Given the description of an element on the screen output the (x, y) to click on. 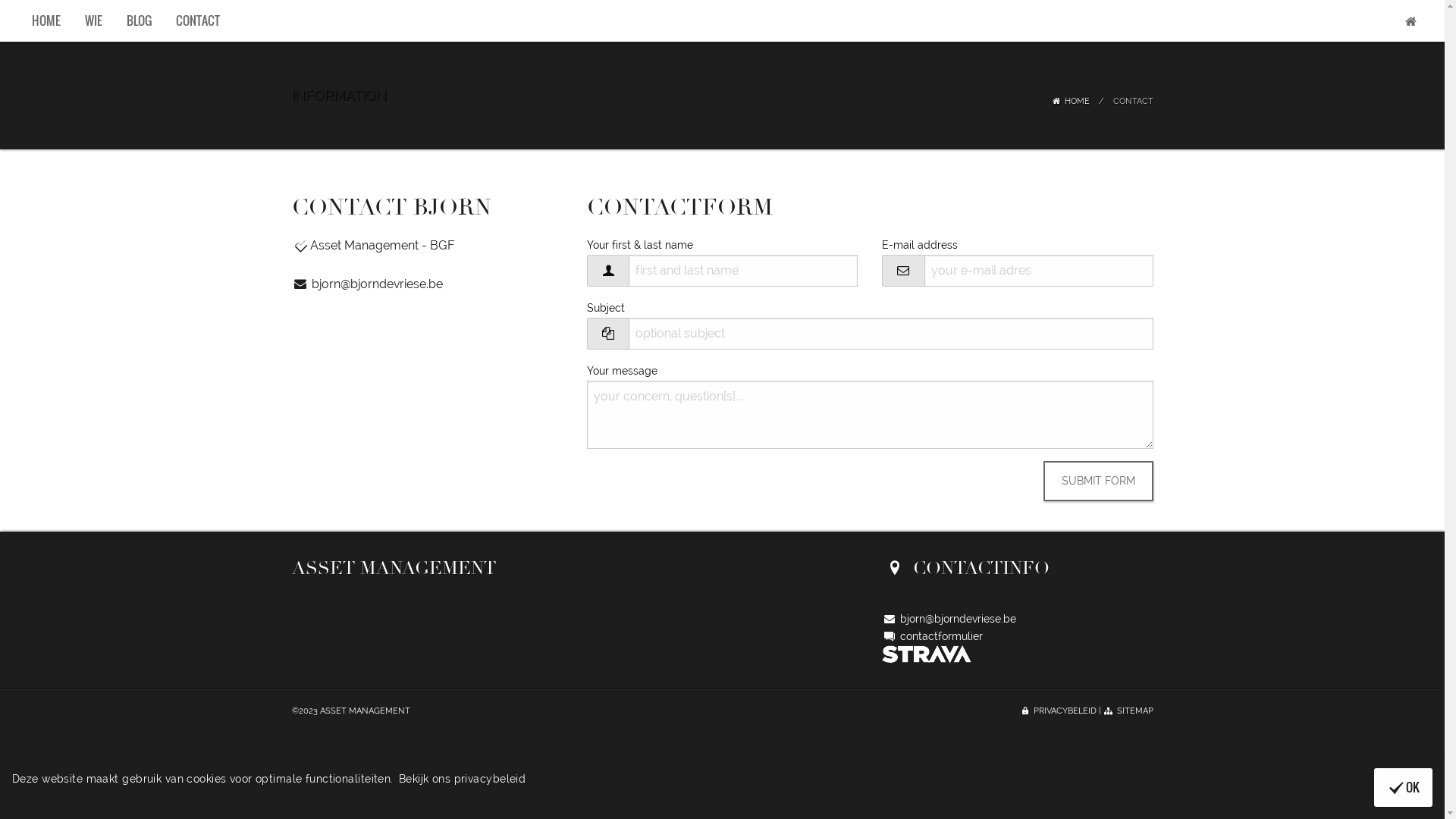
Bekijk ons privacybeleid Element type: text (461, 777)
CONTACT Element type: text (1133, 101)
bjorn@bjorndevriese.be Element type: text (948, 618)
HOME Element type: text (1069, 101)
submit form Element type: text (1098, 481)
Home Element type: hover (1410, 20)
CONTACT Element type: text (197, 20)
Asset Management on Strava Element type: hover (926, 652)
 SITEMAP Element type: text (1127, 710)
HOME Element type: text (45, 20)
 OK Element type: text (1403, 787)
BLOG Element type: text (138, 20)
bjorn@bjorndevriese.be Element type: text (366, 283)
WIE Element type: text (93, 20)
contactformulier Element type: text (931, 636)
 PRIVACYBELEID Element type: text (1057, 710)
Click to send your comment Element type: hover (1098, 481)
